Given the description of an element on the screen output the (x, y) to click on. 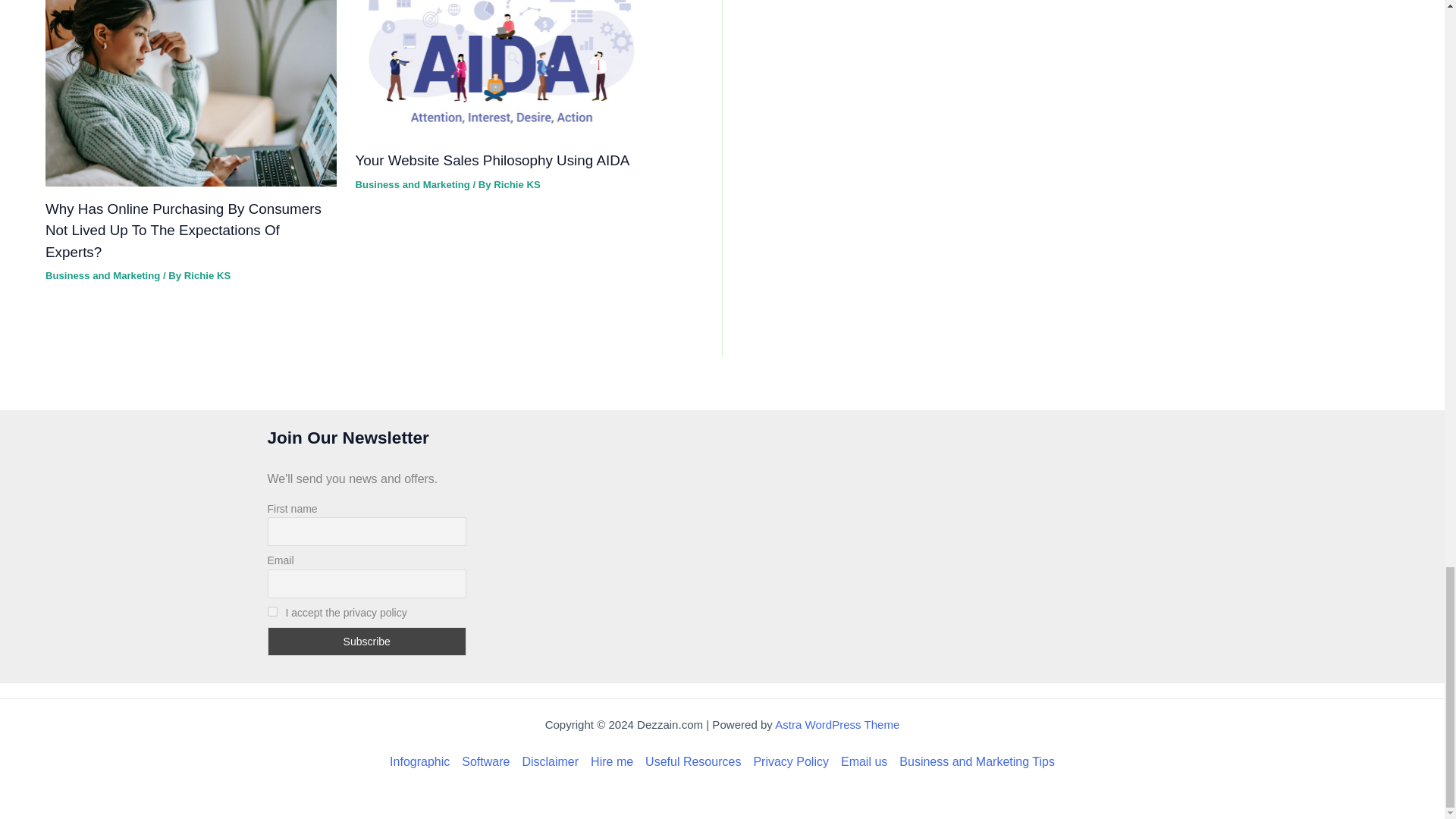
View all posts by Richie KS (207, 275)
Subscribe (365, 641)
View all posts by Richie KS (516, 184)
on (271, 611)
Business and Marketing (102, 275)
